Given the description of an element on the screen output the (x, y) to click on. 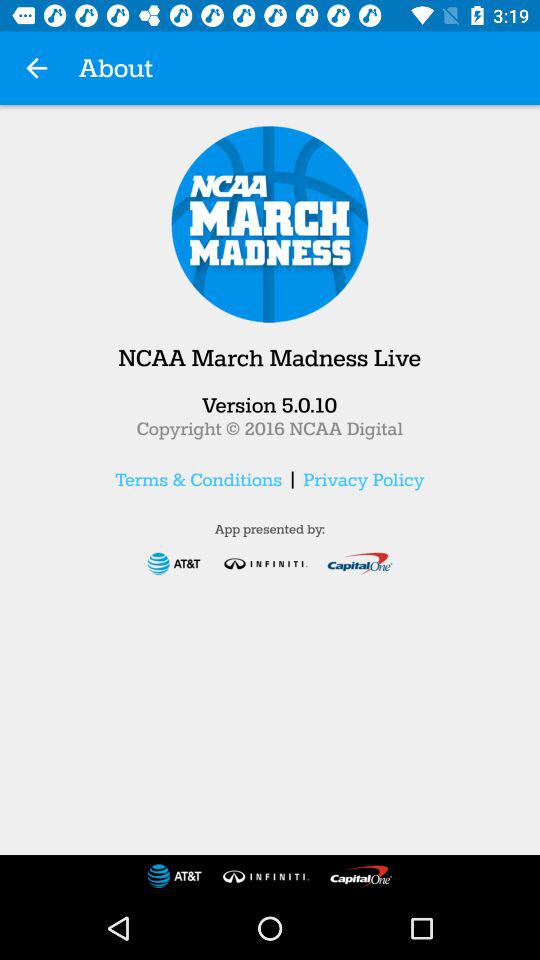
press icon to the right of  | (363, 479)
